Given the description of an element on the screen output the (x, y) to click on. 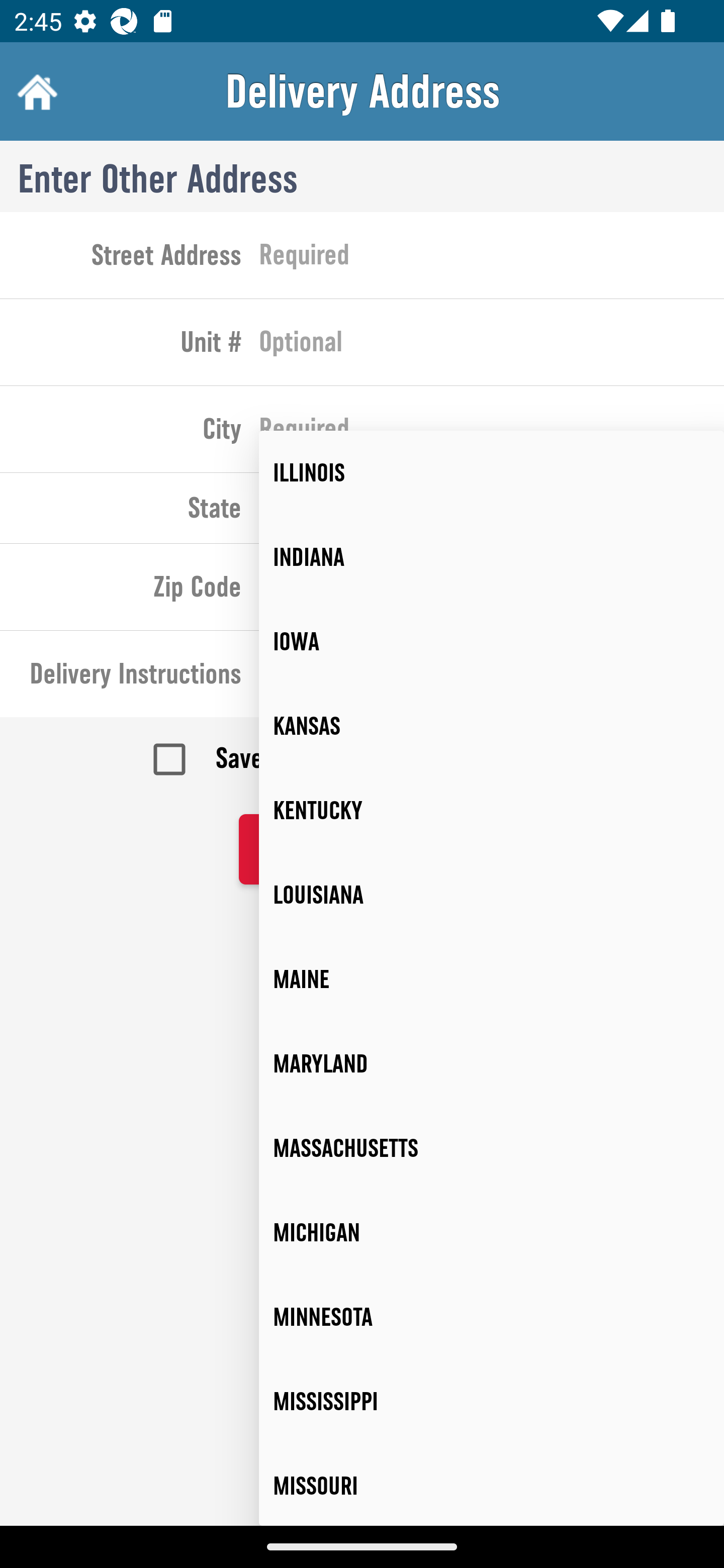
ILLINOIS (491, 473)
INDIANA (491, 556)
IOWA (491, 640)
KANSAS (491, 725)
KENTUCKY (491, 810)
LOUISIANA (491, 894)
MAINE (491, 979)
MARYLAND (491, 1063)
MASSACHUSETTS (491, 1147)
MICHIGAN (491, 1232)
MINNESOTA (491, 1316)
MISSISSIPPI (491, 1401)
MISSOURI (491, 1484)
